Given the description of an element on the screen output the (x, y) to click on. 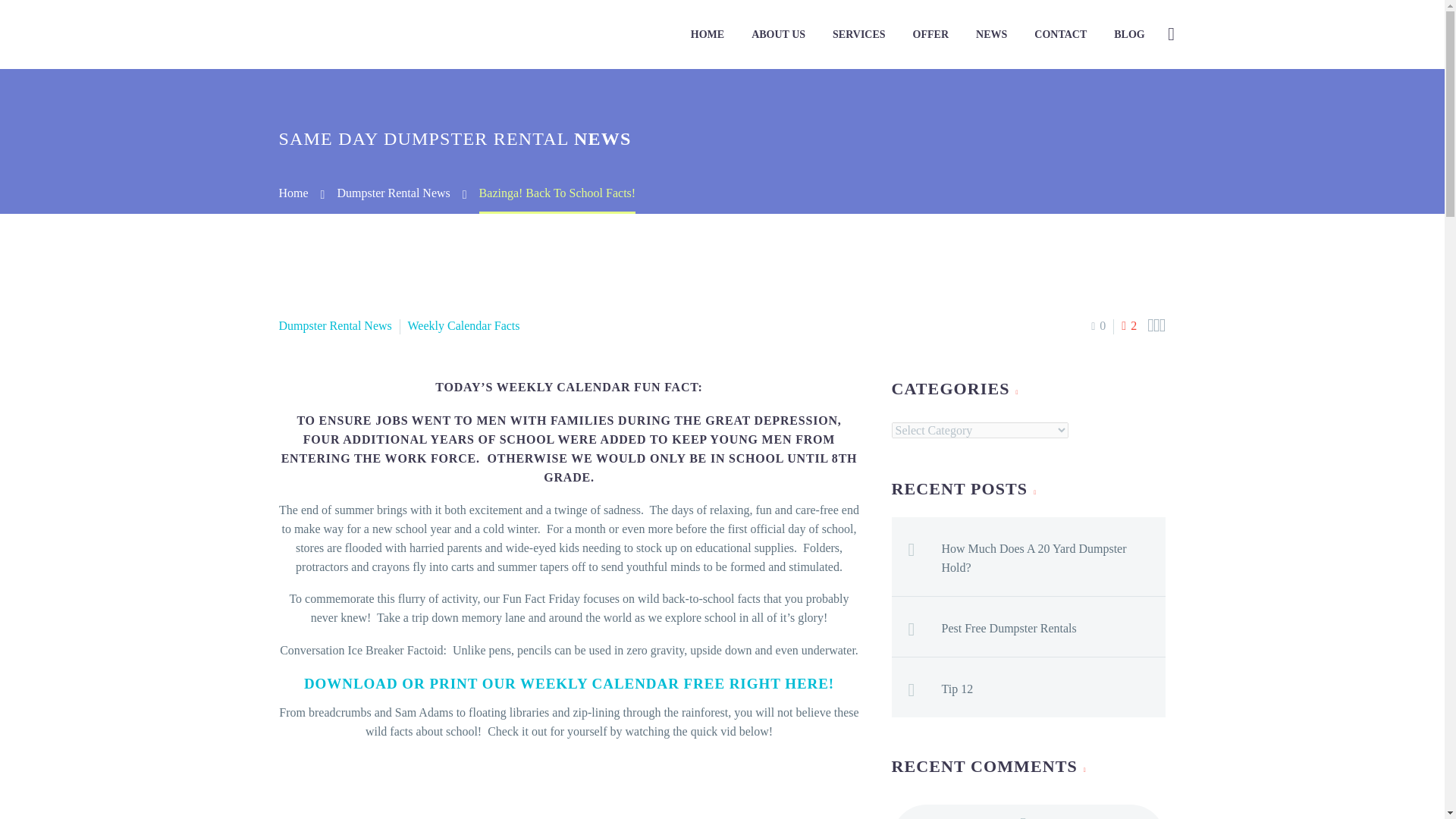
ABOUT US (777, 34)
DOWNLOAD OR PRINT OUR WEEKLY CALENDAR FREE RIGHT HERE! (569, 683)
Dumpster Rental News (392, 192)
BLOG (1129, 34)
CONTACT (1060, 34)
0 (1097, 325)
Weekly Calendar Facts (463, 325)
View all posts in Weekly Calendar Facts (463, 325)
How Much Does A 20 Yard Dumpster Hold? (1054, 554)
HOME (707, 34)
